Given the description of an element on the screen output the (x, y) to click on. 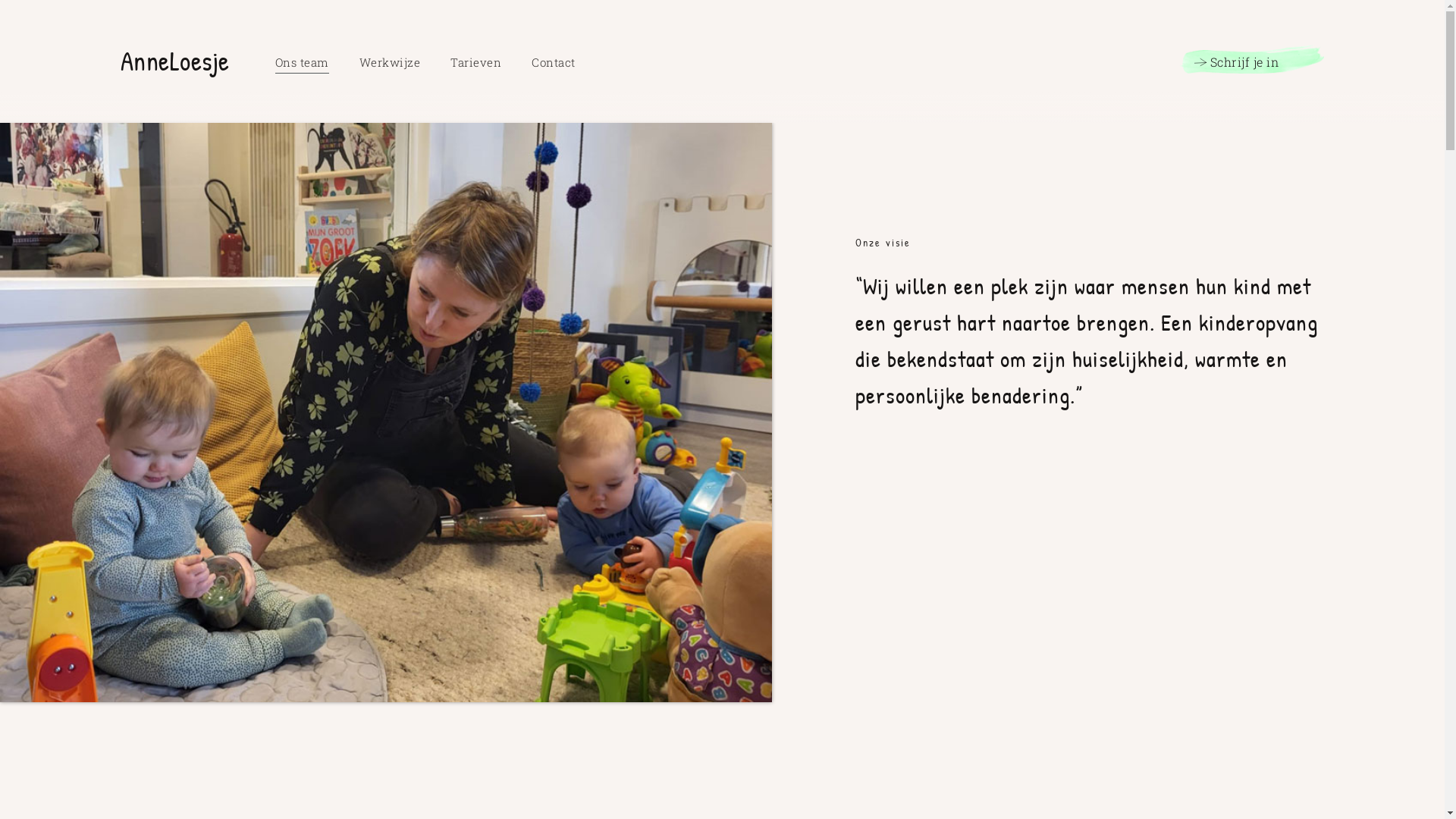
Tarieven Element type: text (475, 62)
Werkwijze Element type: text (389, 62)
AnneLoesje Element type: text (174, 60)
Contact Element type: text (553, 62)
Schrijf je in Element type: text (1247, 58)
Ons team Element type: text (302, 62)
